Given the description of an element on the screen output the (x, y) to click on. 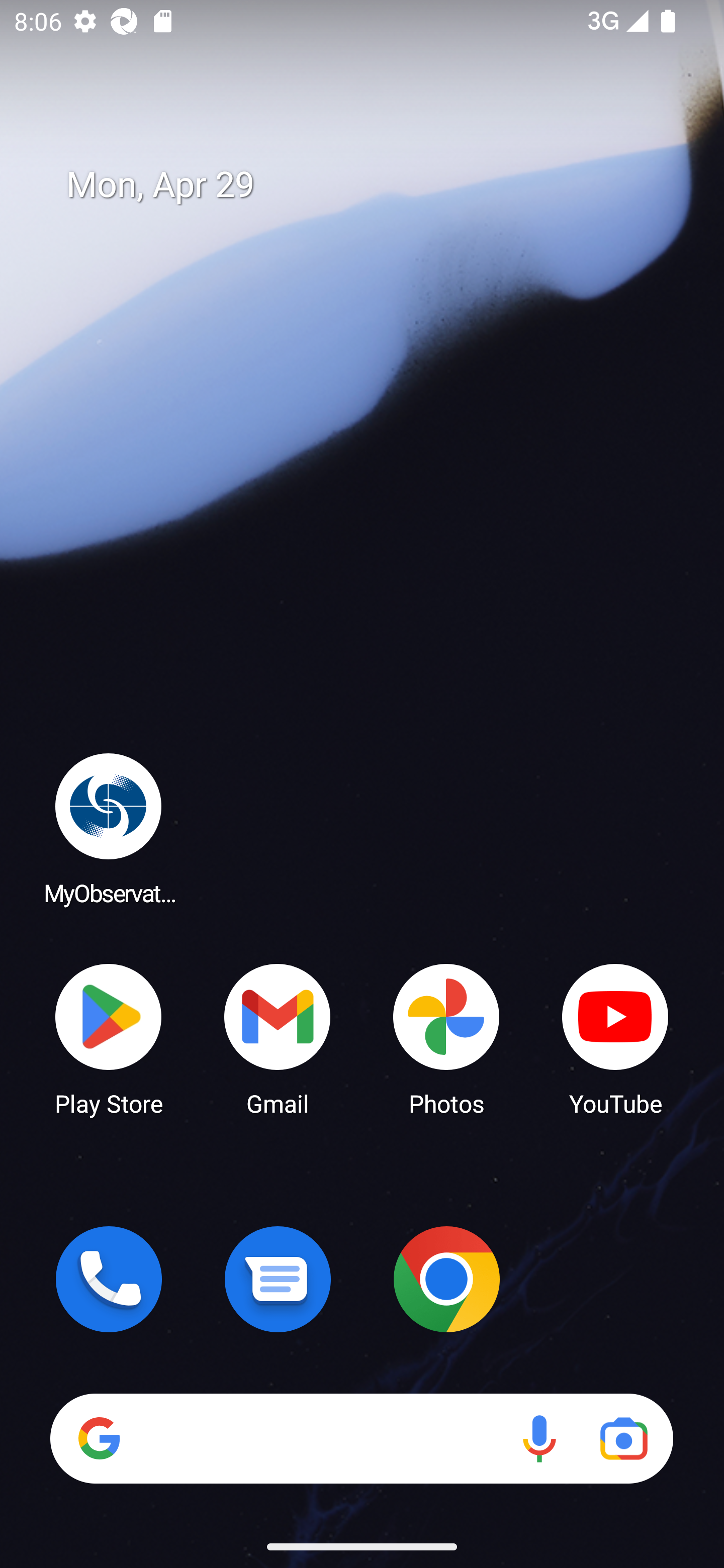
Mon, Apr 29 (375, 184)
MyObservatory (108, 828)
Play Store (108, 1038)
Gmail (277, 1038)
Photos (445, 1038)
YouTube (615, 1038)
Phone (108, 1279)
Messages (277, 1279)
Chrome (446, 1279)
Voice search (539, 1438)
Google Lens (623, 1438)
